Given the description of an element on the screen output the (x, y) to click on. 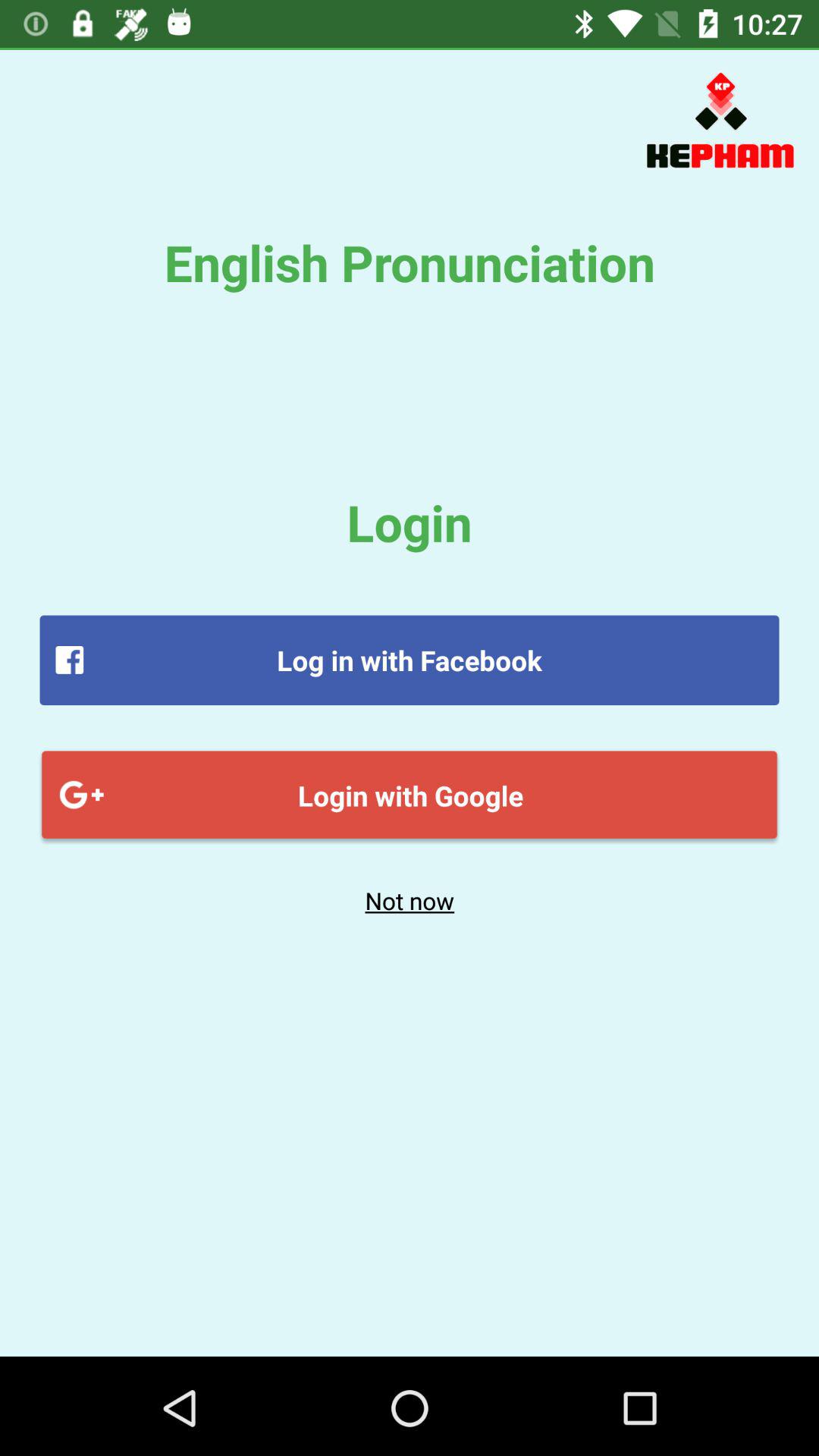
click item above the not now item (409, 794)
